Given the description of an element on the screen output the (x, y) to click on. 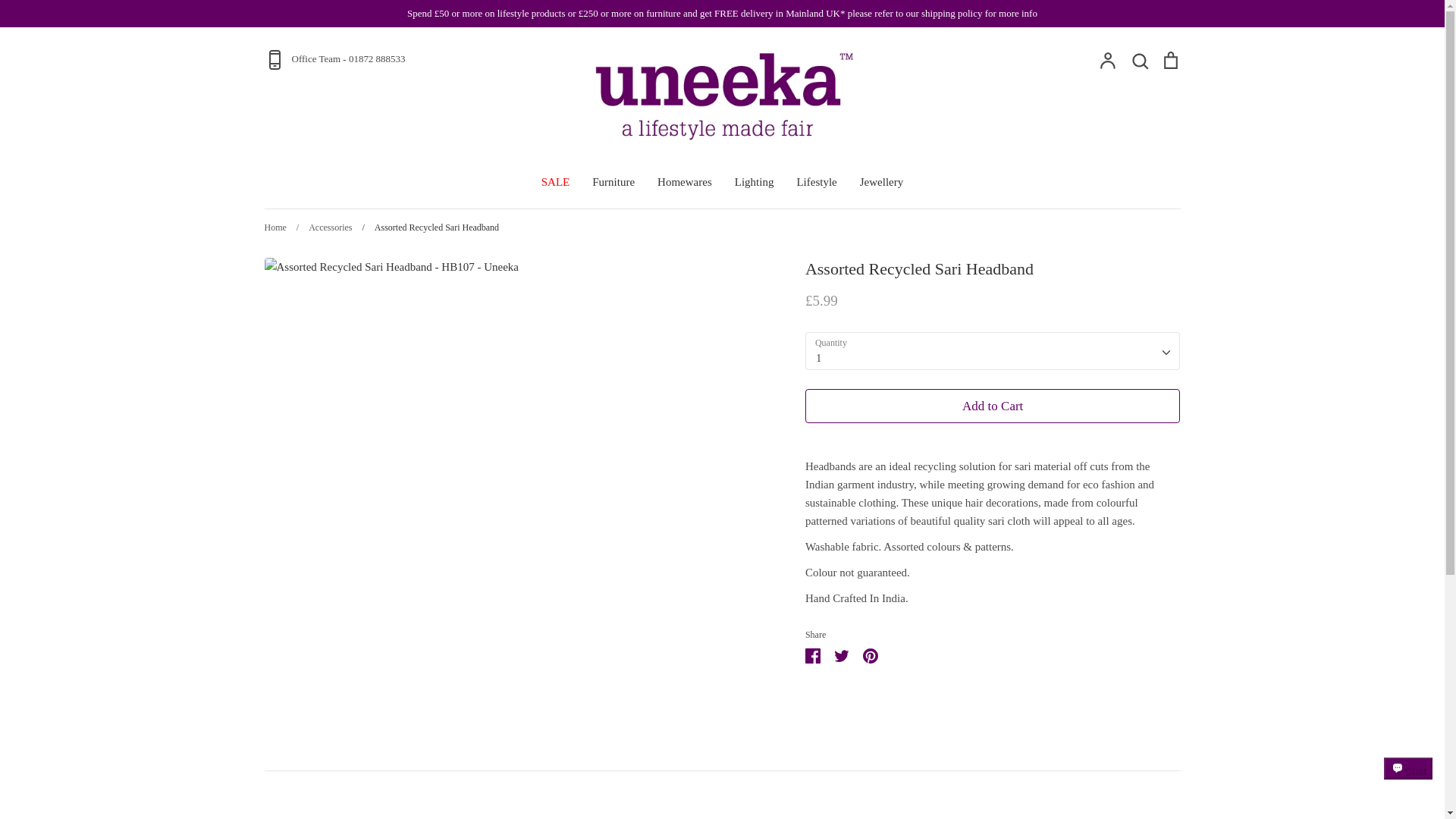
SALE (555, 182)
Office Team - 01872 888533 (414, 59)
Shopify online store chat (1408, 781)
1 (992, 350)
Account (1107, 59)
Furniture (613, 182)
Search (1139, 59)
Cart (1169, 59)
